Given the description of an element on the screen output the (x, y) to click on. 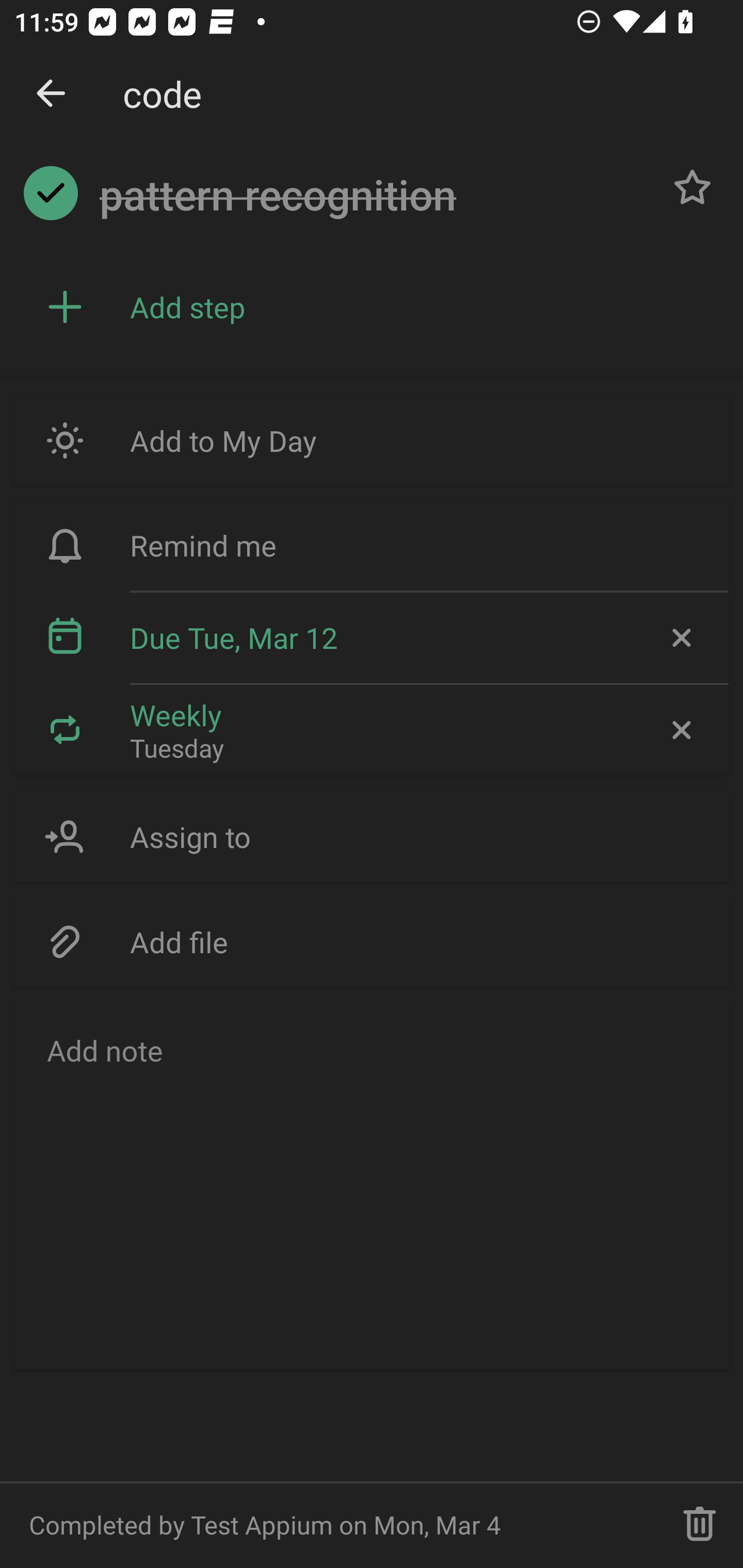
Dismiss detail view (50, 93)
Completed task pattern recognition, Button (50, 192)
pattern recognition (374, 195)
Normal task pattern recognition, Button (692, 187)
Add step (422, 307)
Add to My Day (371, 440)
Remind me (371, 545)
Due Tue, Mar 12 Due Tue, Mar 12 Remove due date (371, 637)
Remove due date (679, 637)
Remove recurrence (679, 729)
Assign to (371, 836)
Add file (371, 941)
Add note, Button Email Renderer Add note (371, 1184)
Delete task (699, 1524)
